Given the description of an element on the screen output the (x, y) to click on. 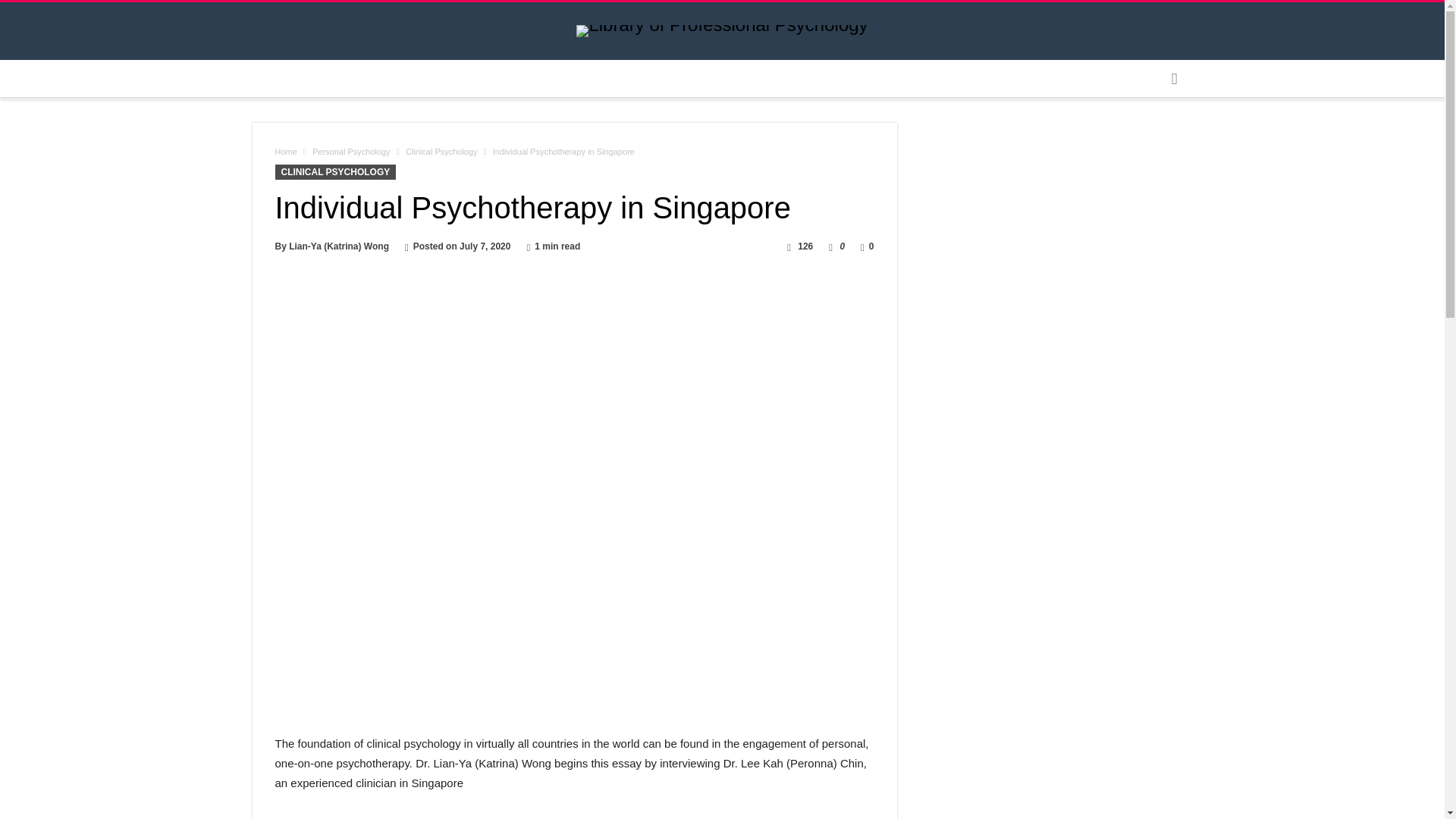
I like this article (830, 245)
CLINICAL PSYCHOLOGY (335, 171)
Clinical Psychology (441, 151)
Personal Psychology (351, 151)
Library of Professional Psychology (721, 24)
Home (286, 151)
